Given the description of an element on the screen output the (x, y) to click on. 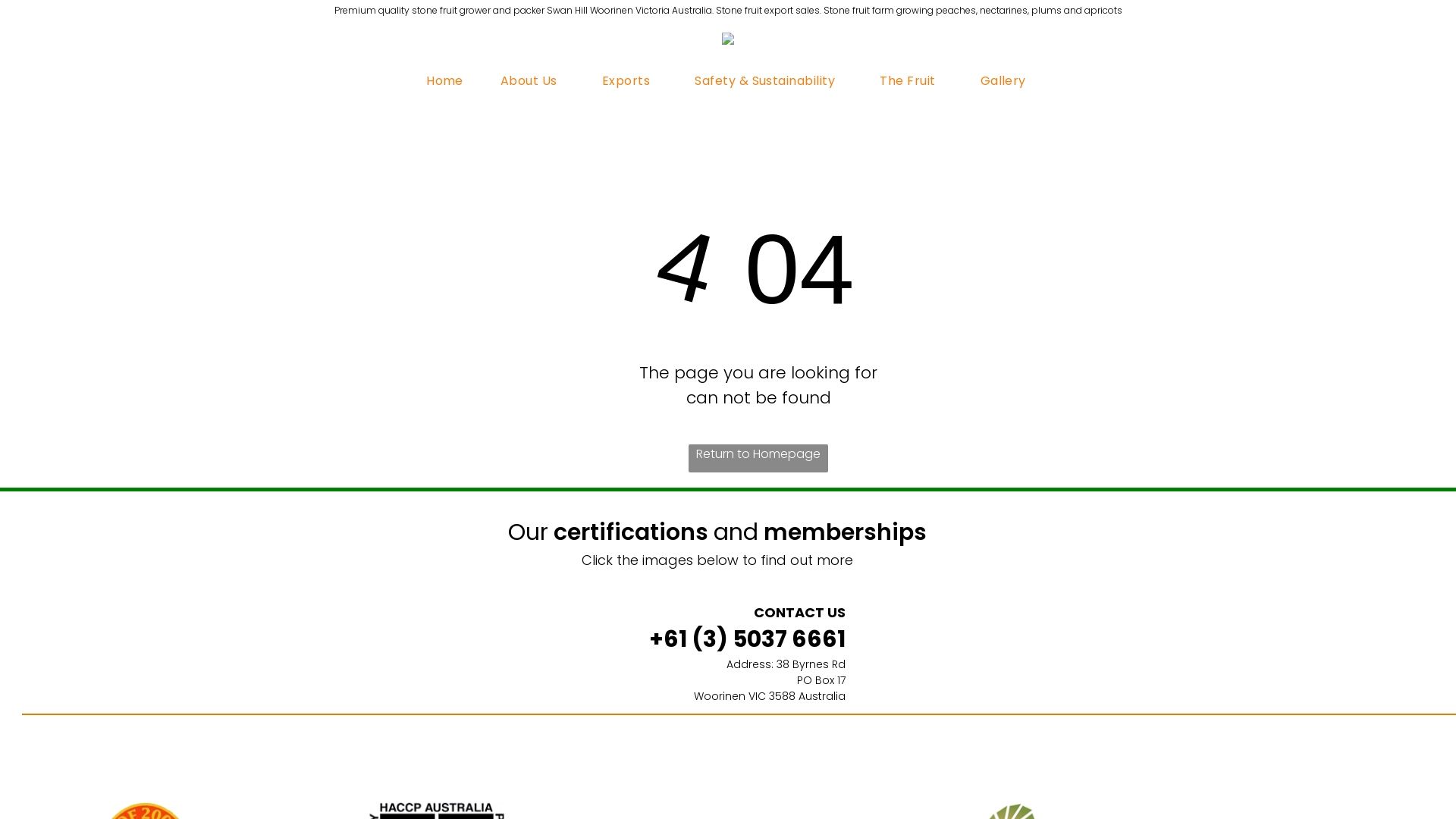
About Us Element type: text (532, 80)
Gallery Element type: text (1002, 80)
Return to Homepage Element type: text (758, 458)
The Fruit Element type: text (910, 80)
Exports Element type: text (629, 80)
Safety & Sustainability Element type: text (768, 80)
Home Element type: text (444, 80)
